Given the description of an element on the screen output the (x, y) to click on. 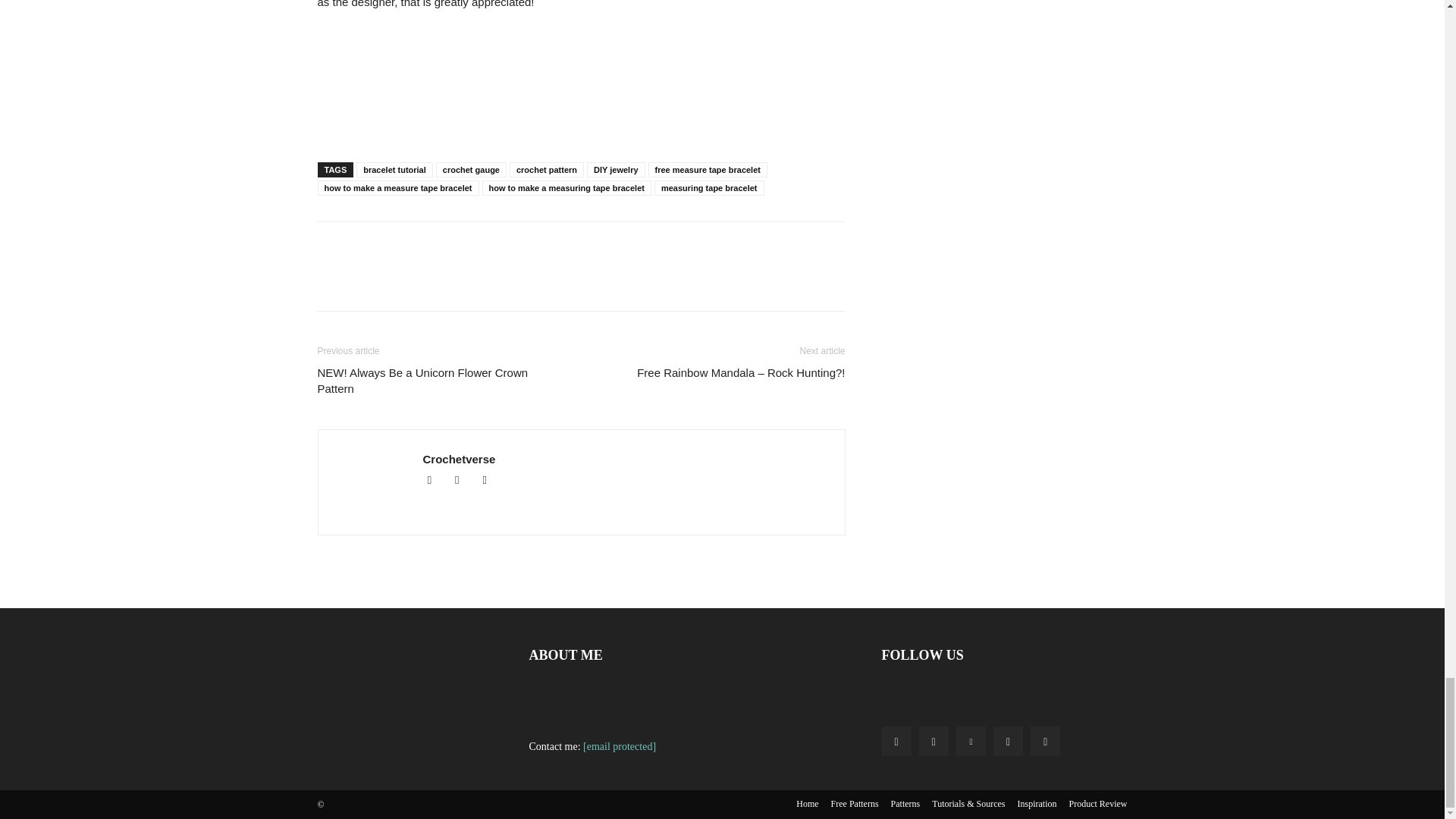
bottomFacebookLike (430, 245)
